Given the description of an element on the screen output the (x, y) to click on. 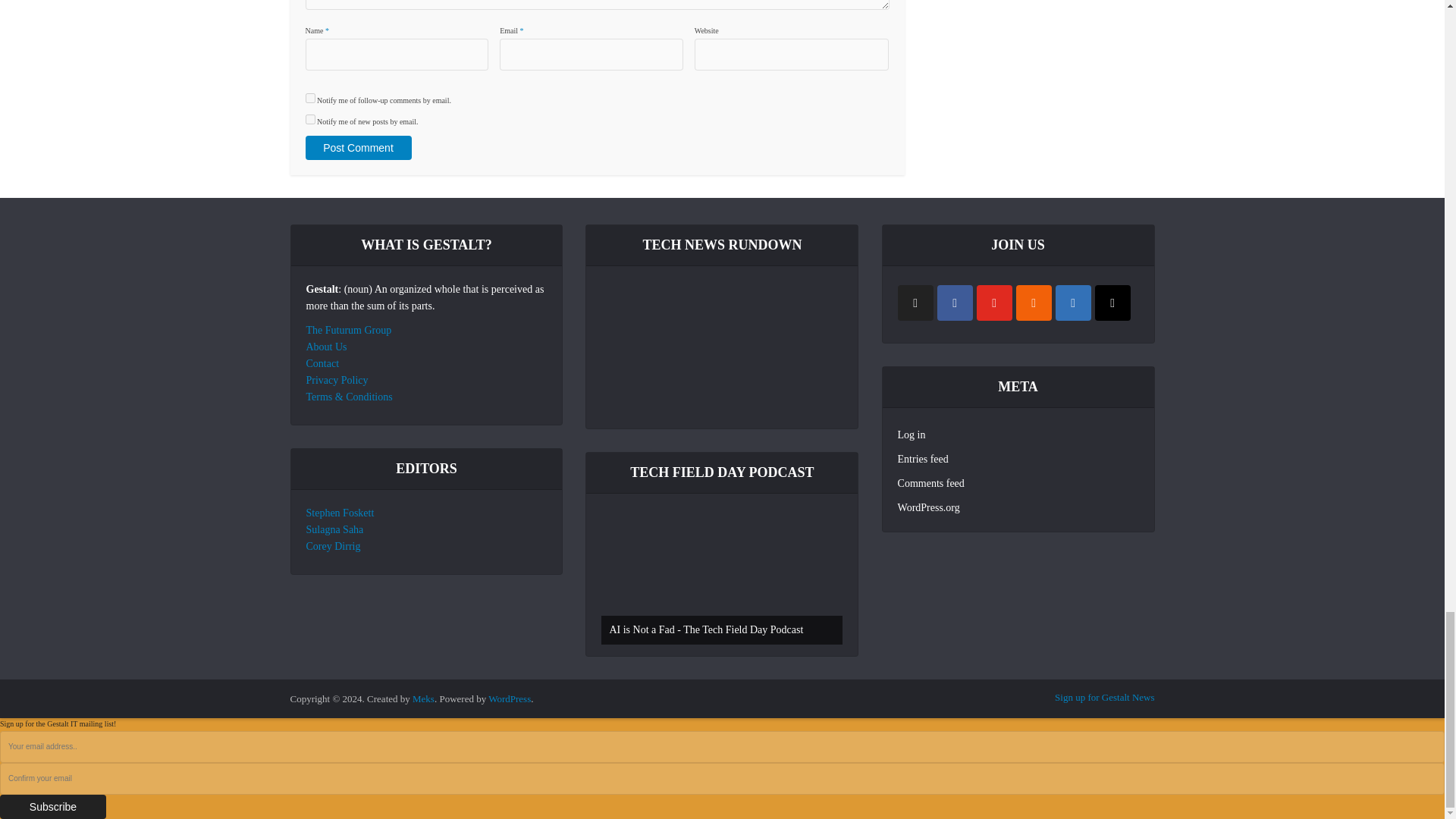
AI is Not a Fad - The Tech Field Day Podcast (722, 576)
Mail (1112, 303)
Linkedin (1072, 303)
YouTube (993, 303)
RSS (1033, 303)
Post Comment (357, 147)
subscribe (309, 119)
subscribe (309, 98)
Facebook (954, 303)
